Given the description of an element on the screen output the (x, y) to click on. 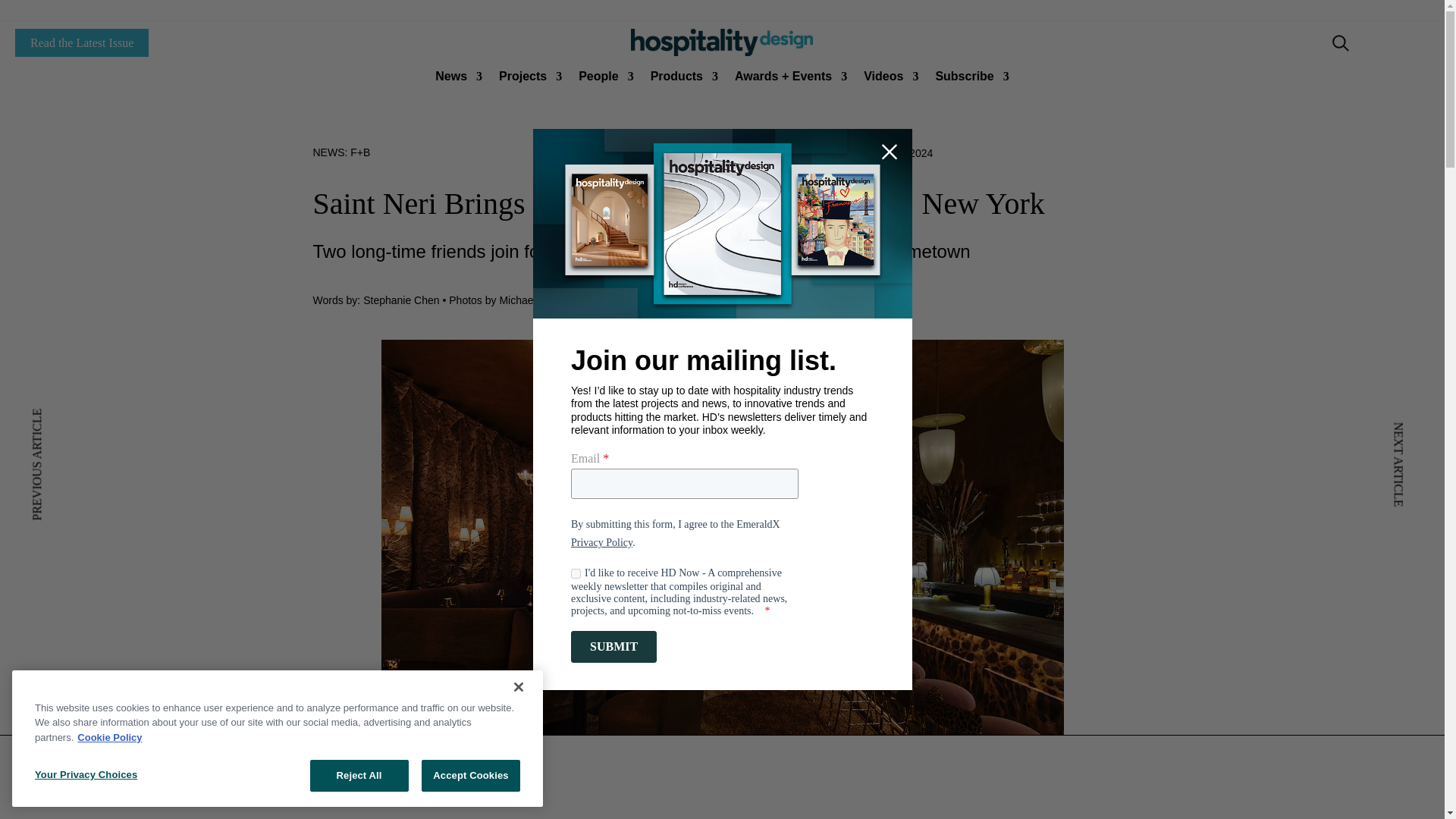
People (605, 79)
Print (721, 42)
Projects (530, 79)
News (458, 79)
Search IconA magnifying glass icon. (1340, 43)
Products (683, 79)
Read the Latest Issue (81, 42)
